Given the description of an element on the screen output the (x, y) to click on. 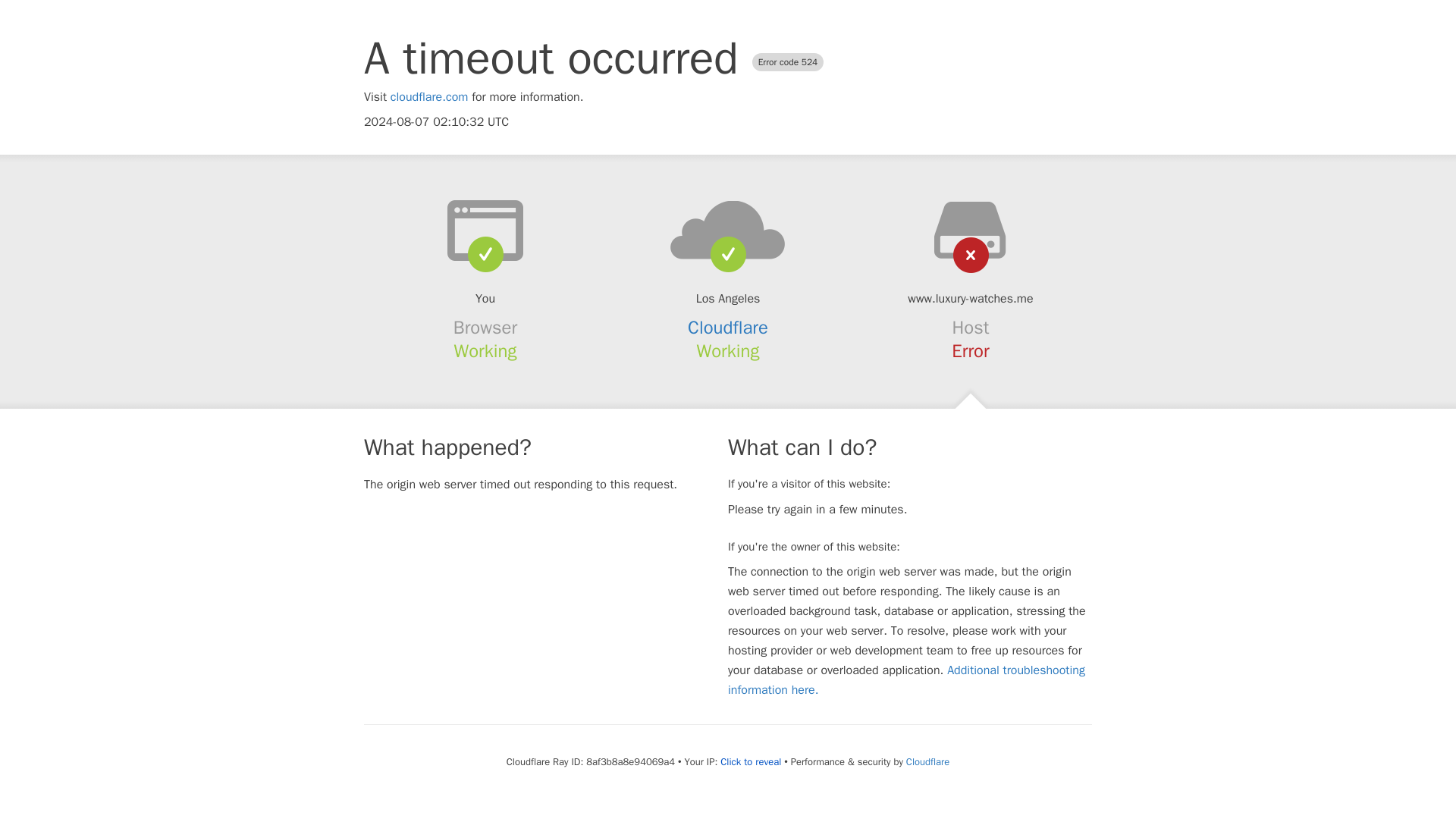
Additional troubleshooting information here. (906, 679)
cloudflare.com (429, 96)
Click to reveal (750, 762)
Cloudflare (727, 327)
Cloudflare (927, 761)
